Given the description of an element on the screen output the (x, y) to click on. 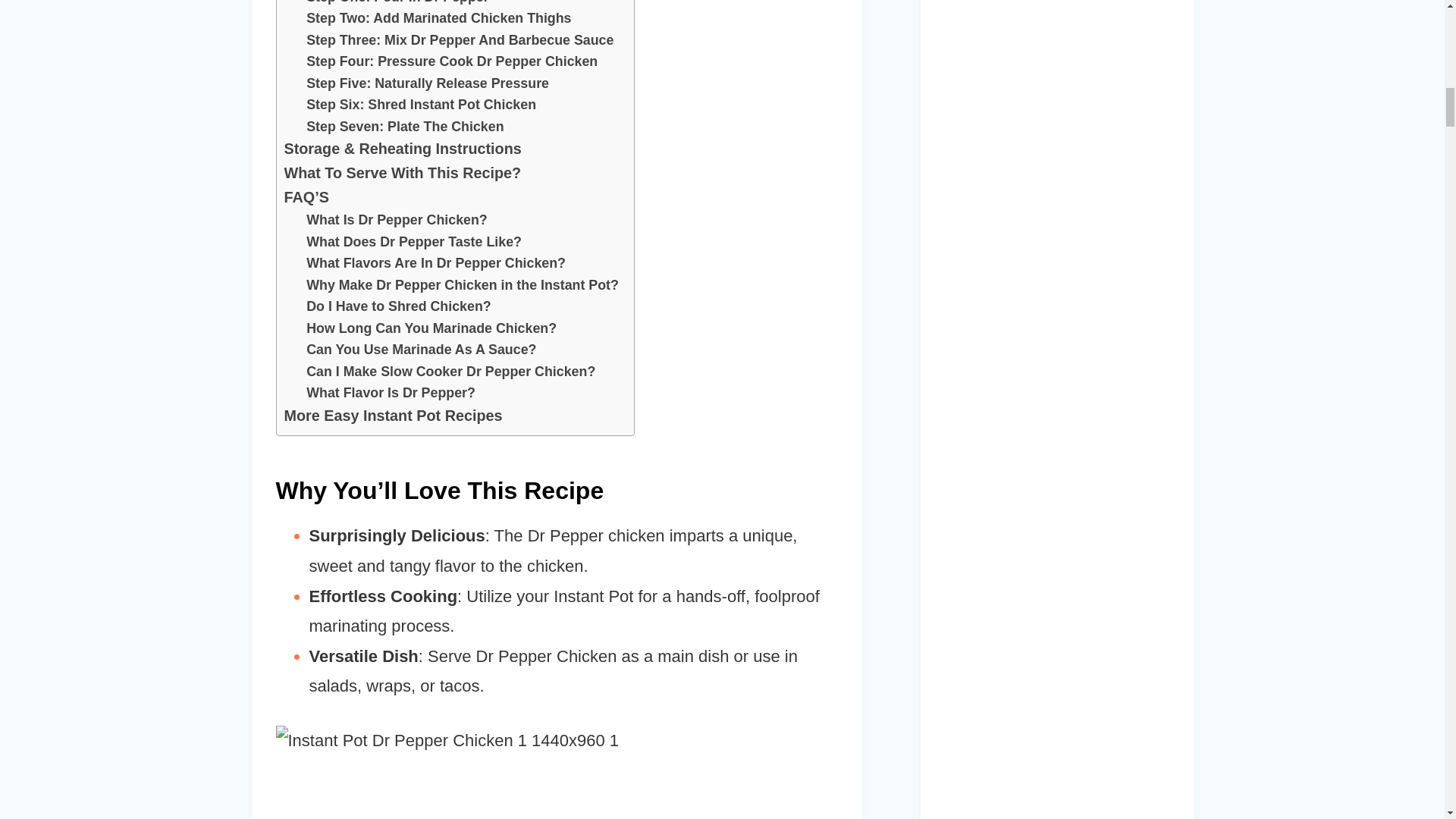
Step Seven: Plate The Chicken (404, 127)
What Is Dr Pepper Chicken? (396, 219)
Step Two: Add Marinated Chicken Thighs (437, 18)
What To Serve With This Recipe? (402, 173)
What Does Dr Pepper Taste Like? (413, 241)
Step Four: Pressure Cook Dr Pepper Chicken (450, 61)
Step Three: Mix Dr Pepper And Barbecue Sauce (458, 40)
Step Six: Shred Instant Pot Chicken (420, 105)
Step One: Pour In Dr Pepper (397, 4)
What Flavors Are In Dr Pepper Chicken? (435, 263)
Step Five: Naturally Release Pressure (426, 83)
